Given the description of an element on the screen output the (x, y) to click on. 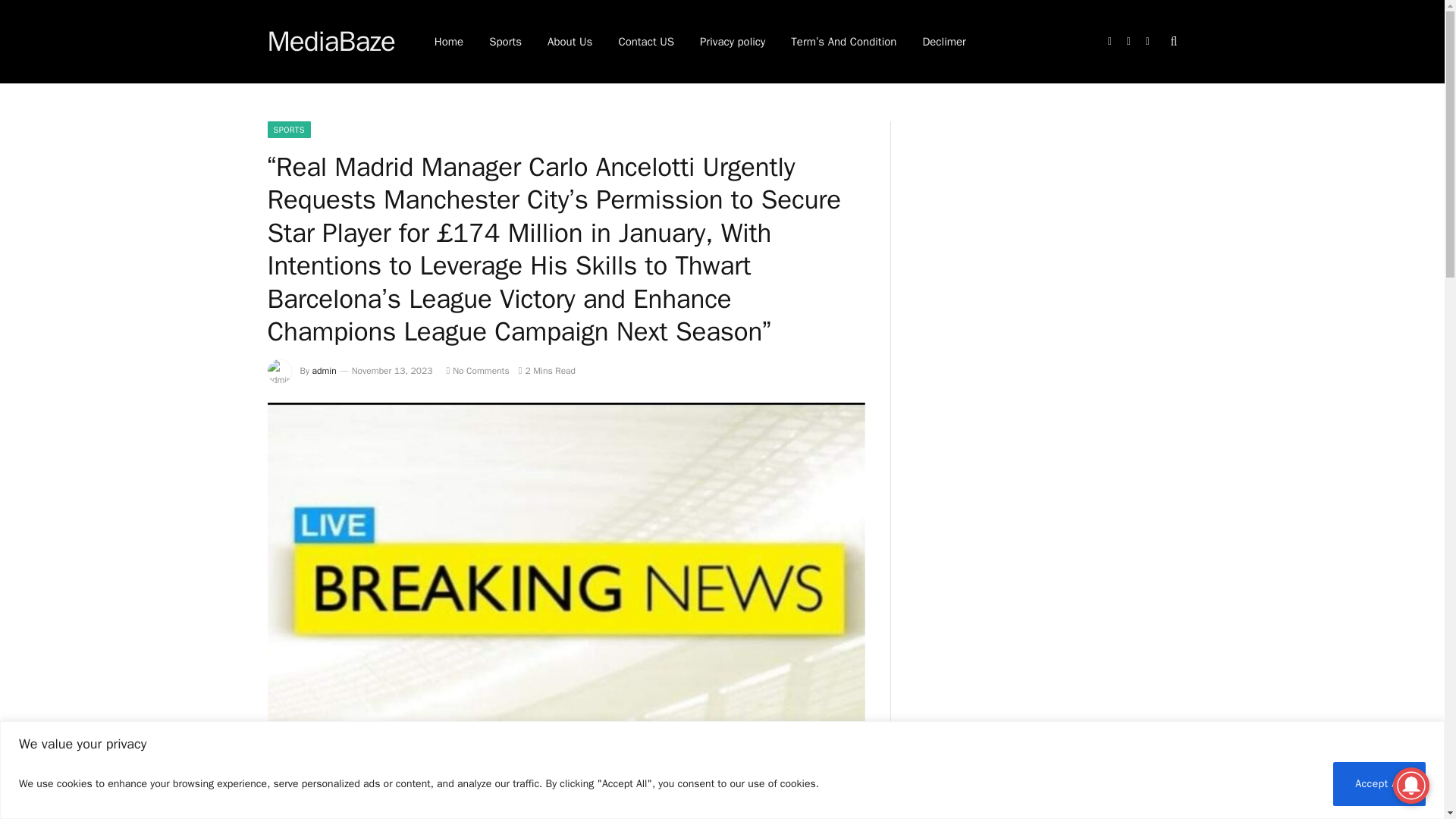
No Comments (476, 370)
Contact US (646, 41)
admin (324, 370)
MediaBaze (330, 41)
Accept All (1379, 783)
MediaBaze (330, 41)
Privacy policy (732, 41)
Posts by admin (324, 370)
SPORTS (288, 129)
